Given the description of an element on the screen output the (x, y) to click on. 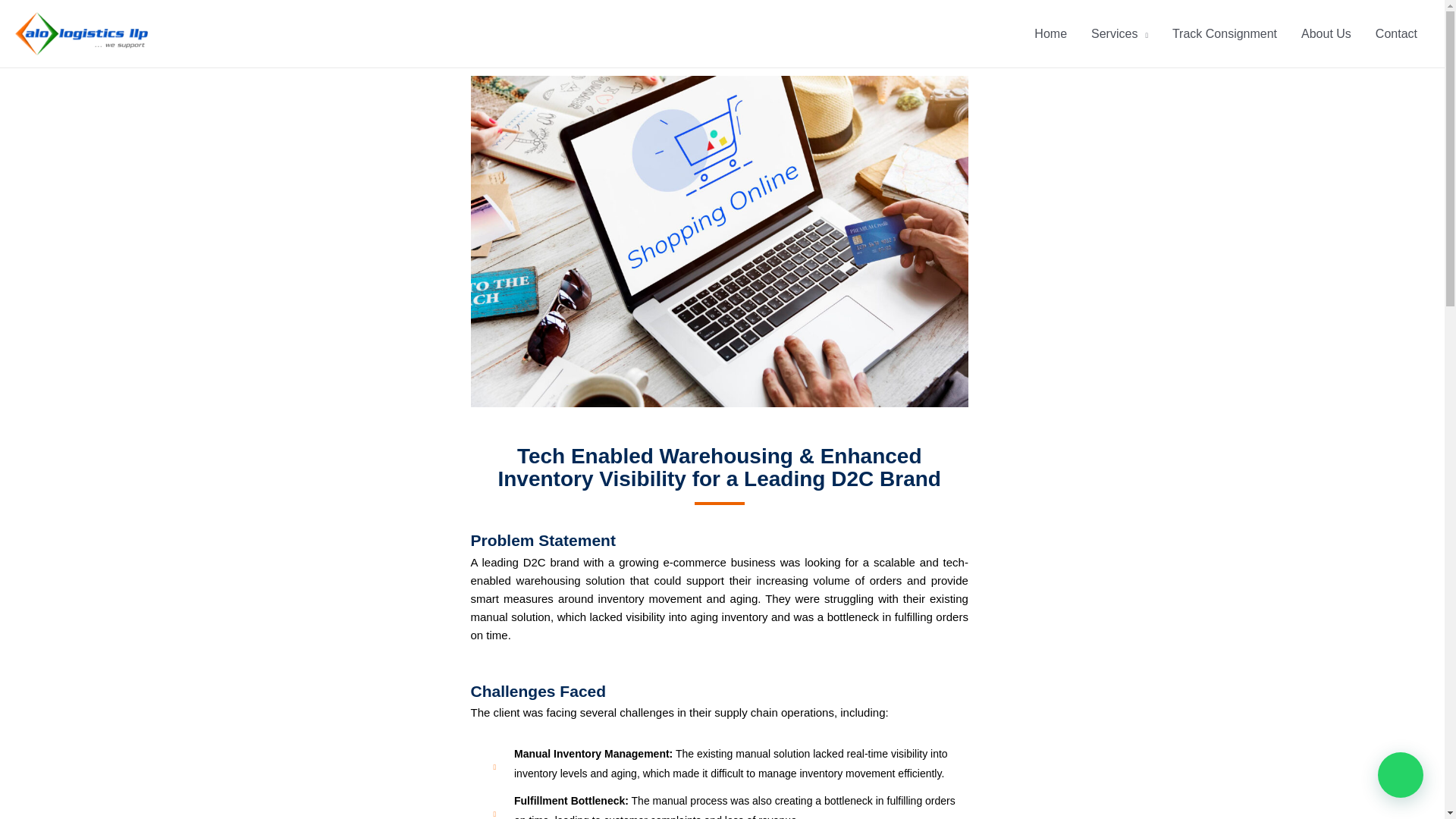
Contact (1395, 33)
Services (1119, 33)
Home (1050, 33)
Track Consignment (1224, 33)
About Us (1325, 33)
